Given the description of an element on the screen output the (x, y) to click on. 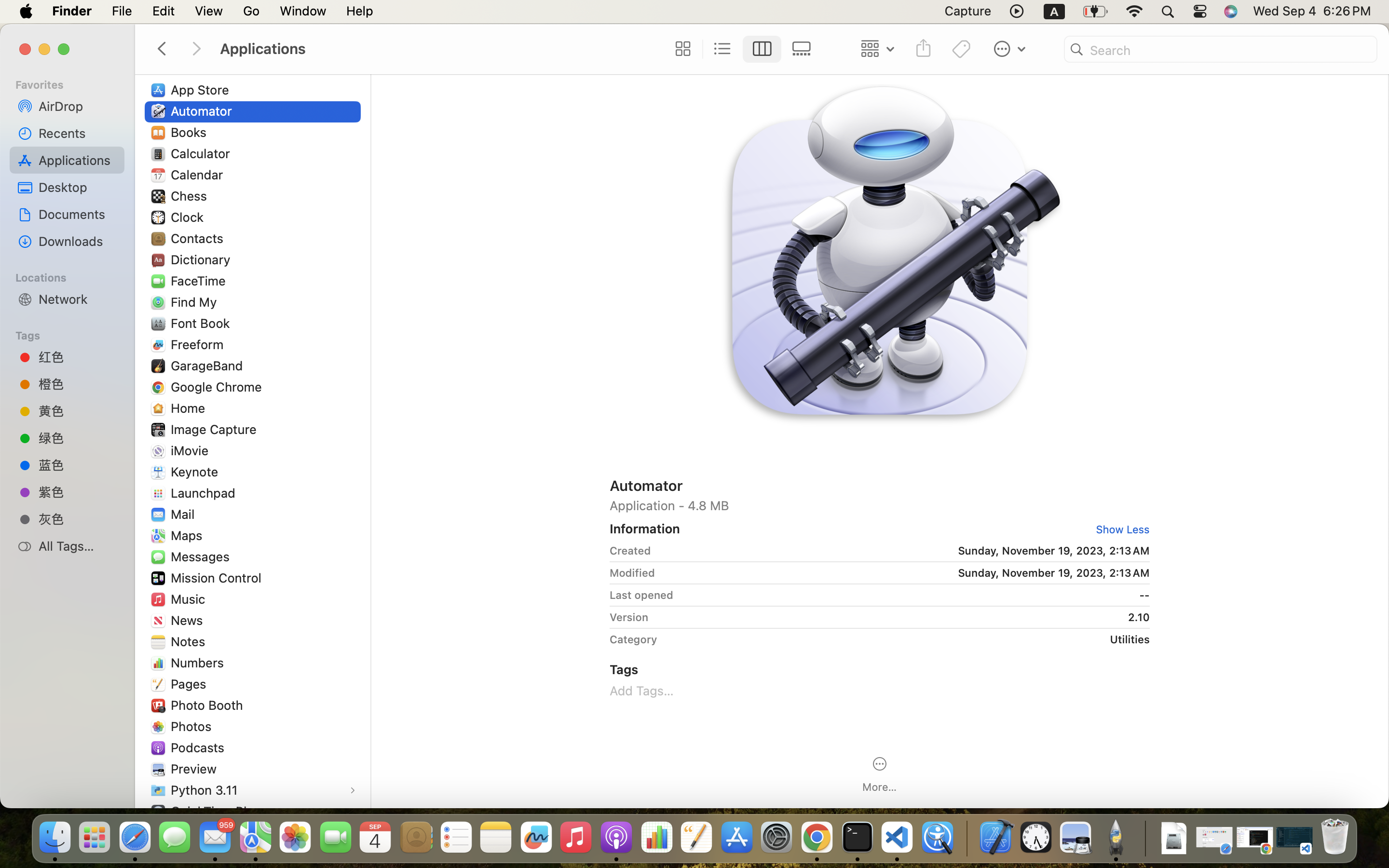
All Tags… Element type: AXStaticText (77, 545)
灰色 Element type: AXStaticText (77, 518)
